Given the description of an element on the screen output the (x, y) to click on. 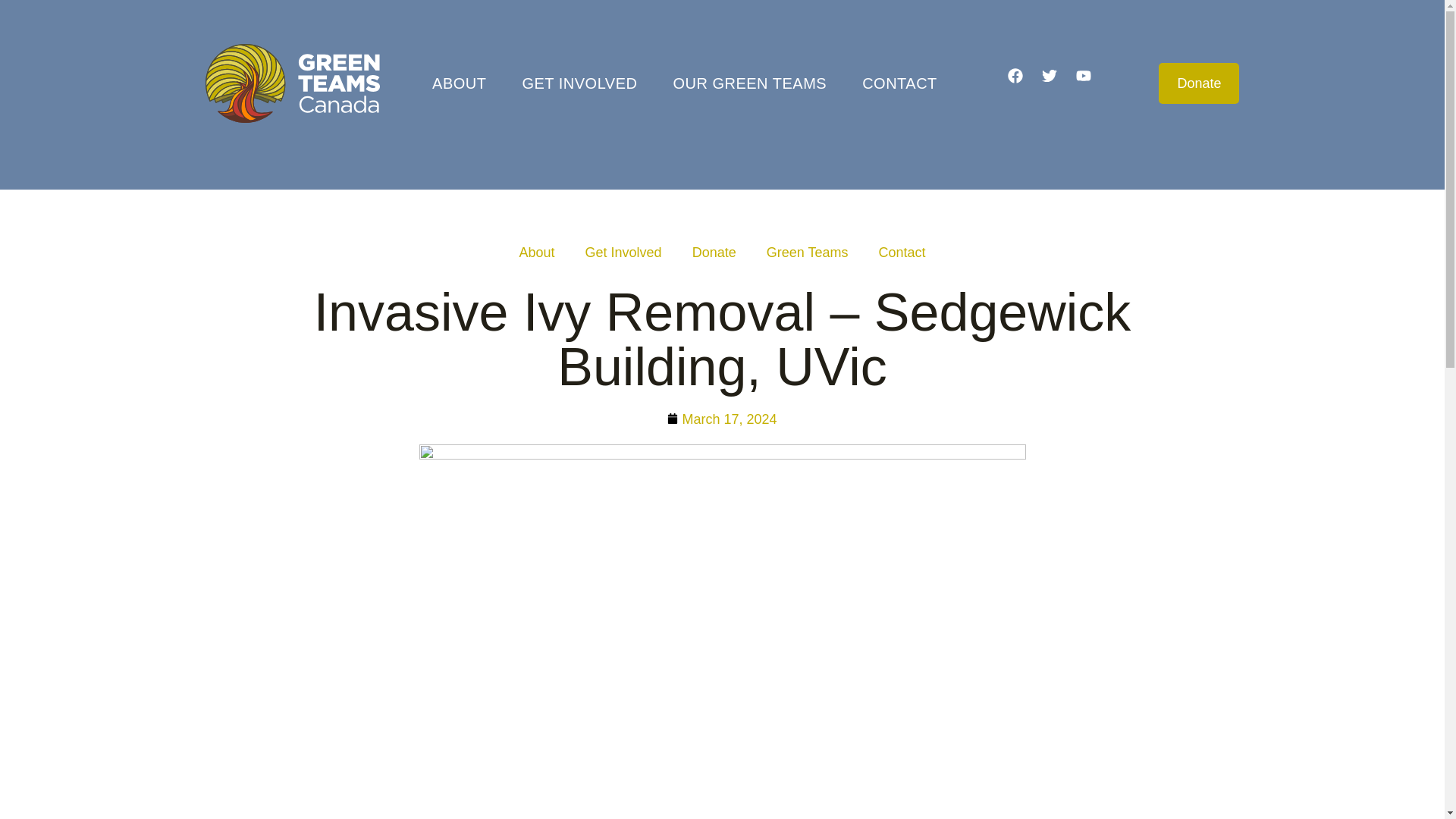
CONTACT (899, 83)
ABOUT (459, 83)
GET INVOLVED (579, 83)
OUR GREEN TEAMS (749, 83)
